Given the description of an element on the screen output the (x, y) to click on. 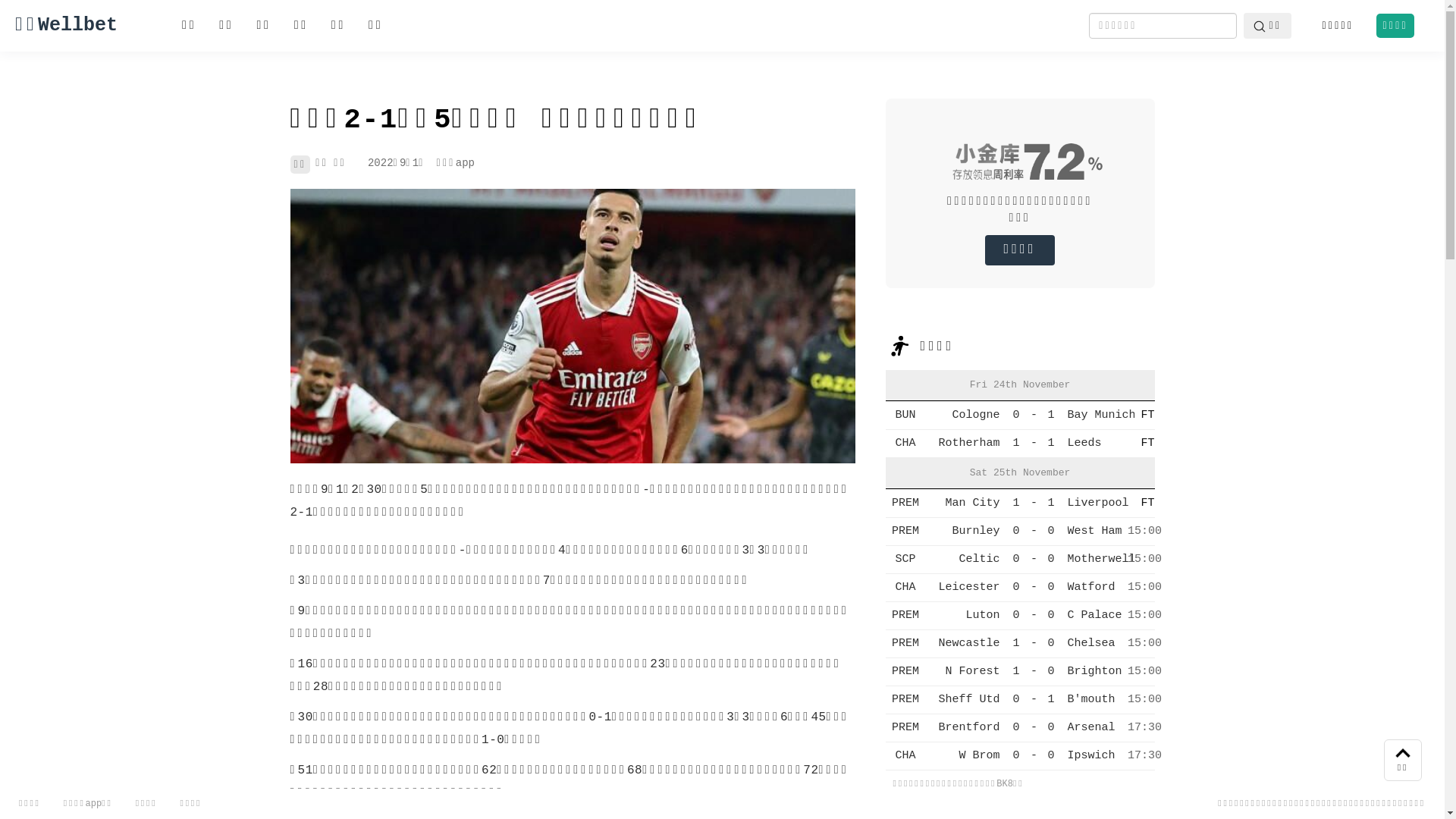
BK8 Element type: text (1004, 783)
